Given the description of an element on the screen output the (x, y) to click on. 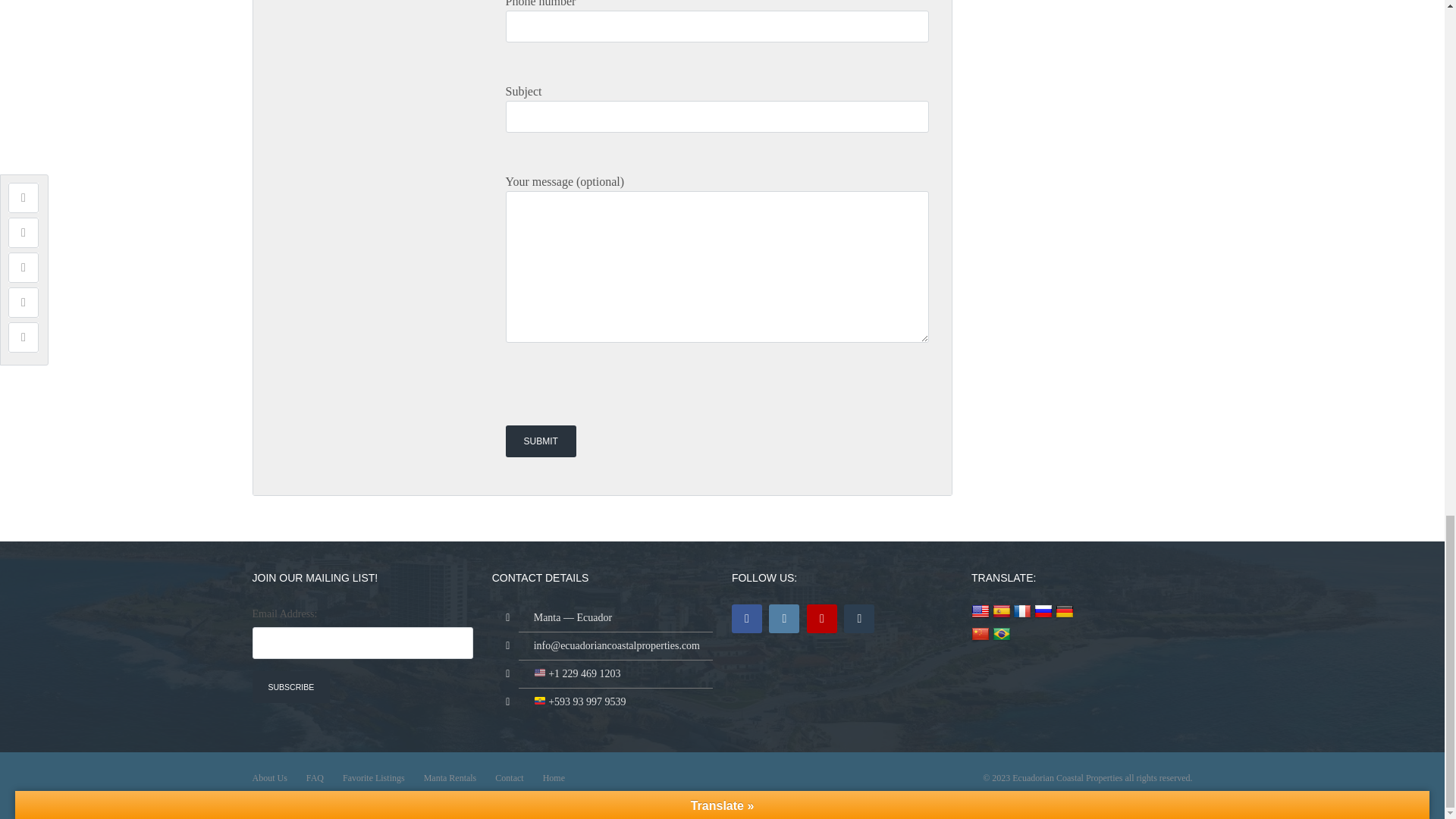
English (980, 611)
Russian (1042, 611)
French (1021, 611)
Subscribe (290, 686)
Spanish (1001, 611)
German (1064, 611)
Submit (540, 441)
Portuguese (1001, 634)
